Given the description of an element on the screen output the (x, y) to click on. 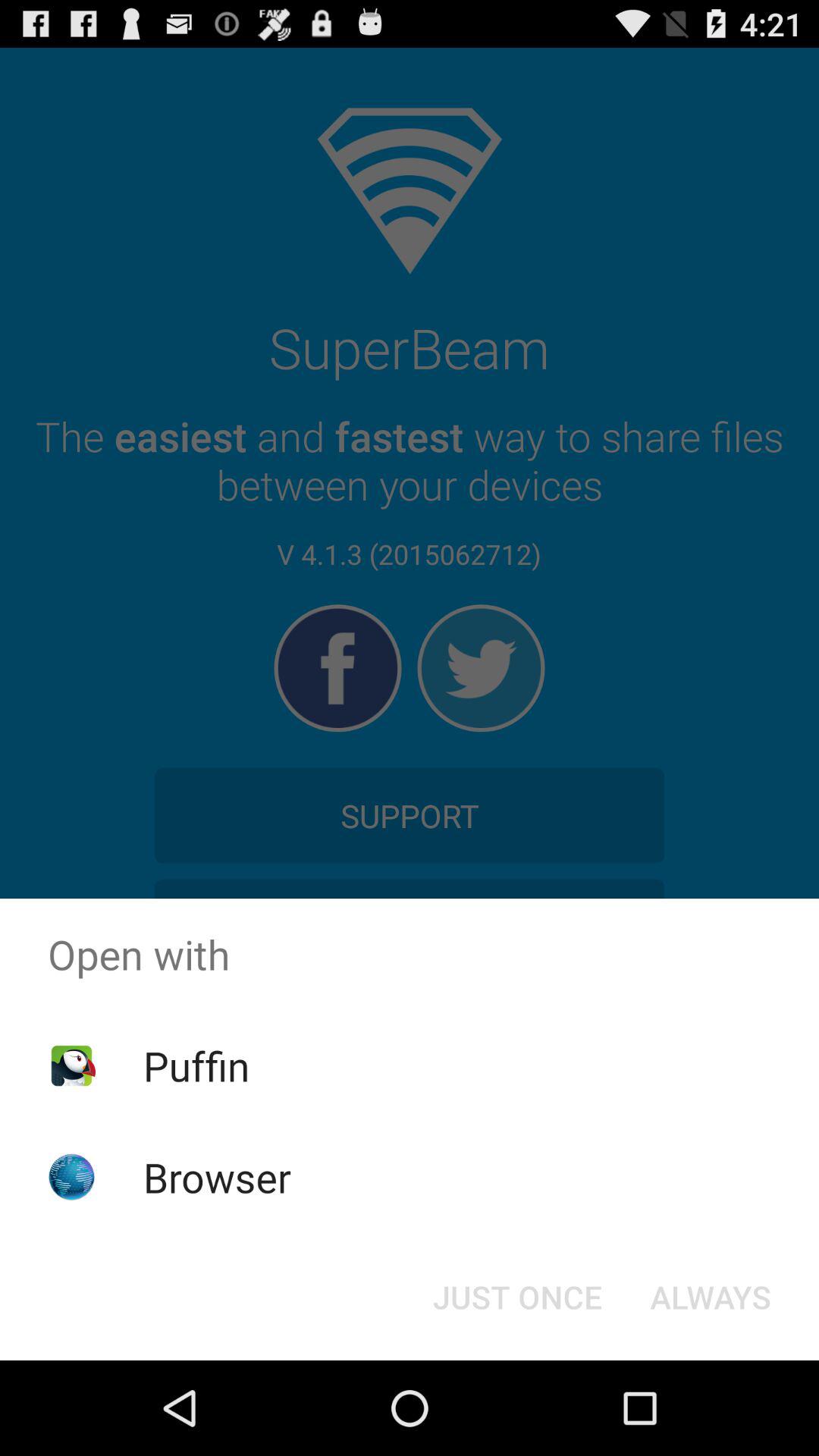
turn on app below the puffin (217, 1176)
